Given the description of an element on the screen output the (x, y) to click on. 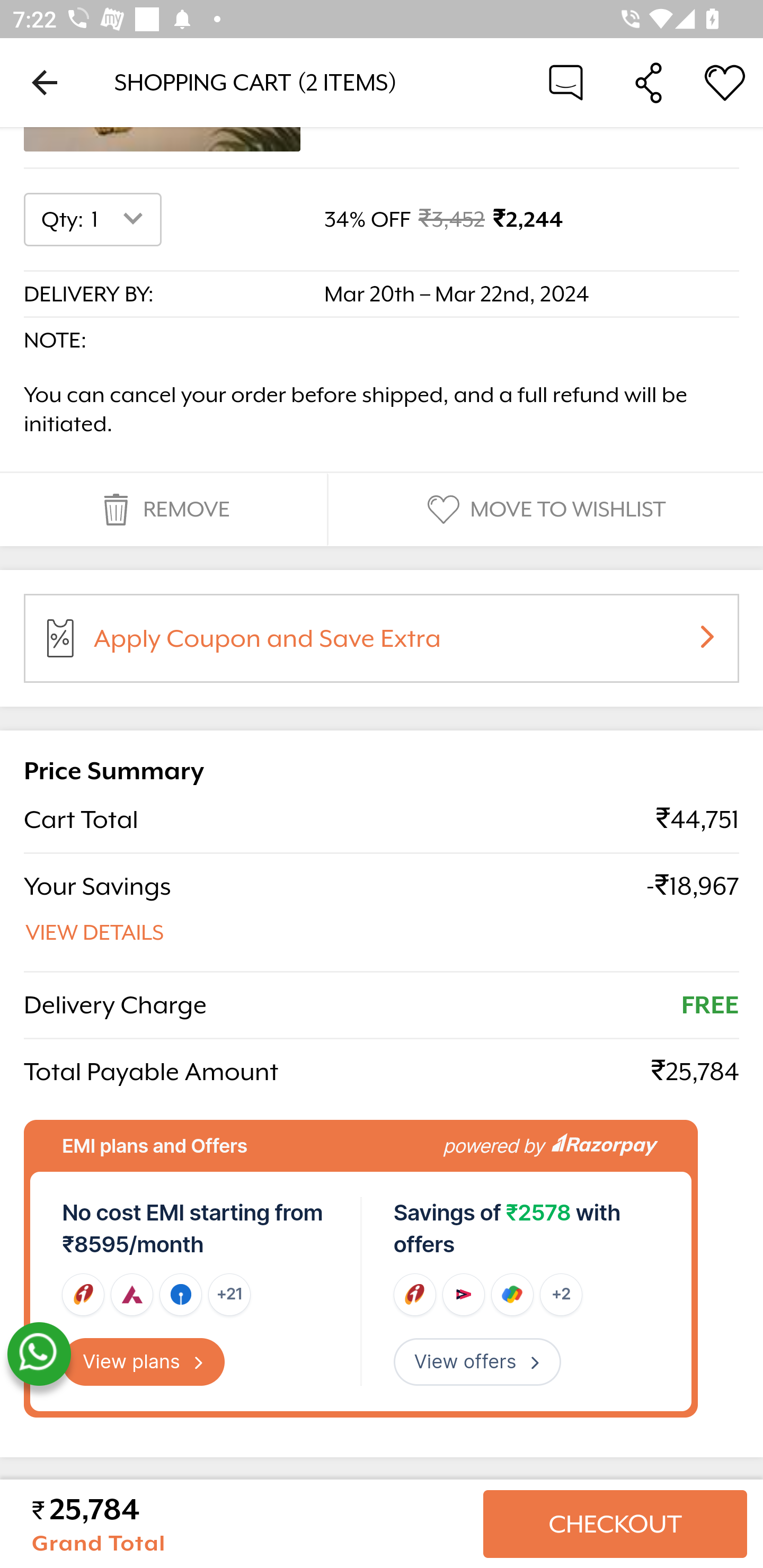
Navigate up (44, 82)
Chat (565, 81)
Share Cart (648, 81)
Wishlist (724, 81)
1 (121, 220)
REMOVE (163, 509)
MOVE TO WISHLIST (544, 509)
Apply Coupon and Save Extra (402, 644)
VIEW DETAILS (95, 933)
whatsapp (38, 1354)
View plans (143, 1362)
View offers (476, 1362)
₹ 25,784 Grand Total (250, 1523)
CHECKOUT (614, 1523)
